Given the description of an element on the screen output the (x, y) to click on. 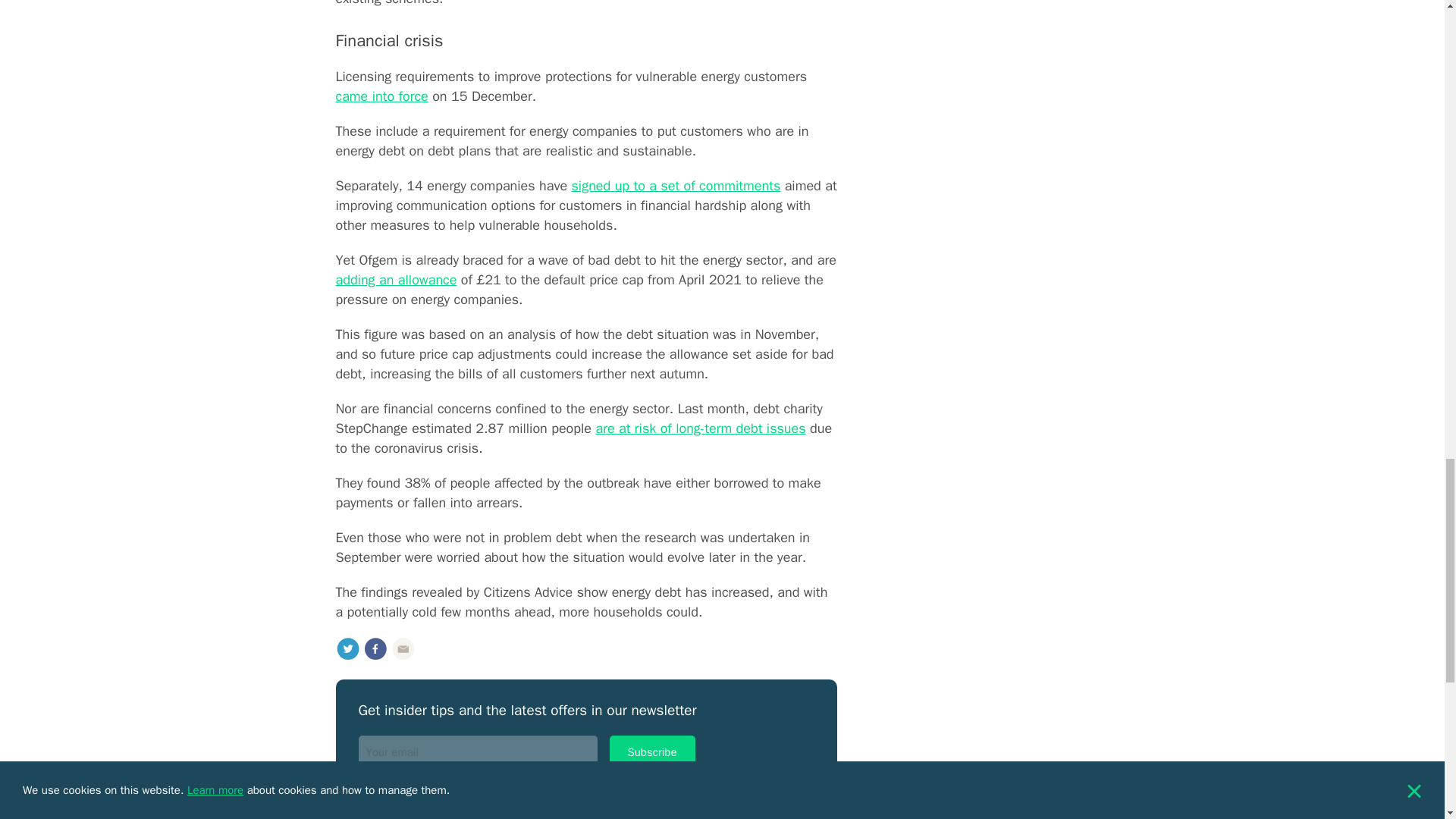
are at risk of long-term debt issues (700, 428)
adding an allowance (395, 279)
came into force (381, 95)
Subscribe (652, 752)
signed up to a set of commitments (675, 185)
